Given the description of an element on the screen output the (x, y) to click on. 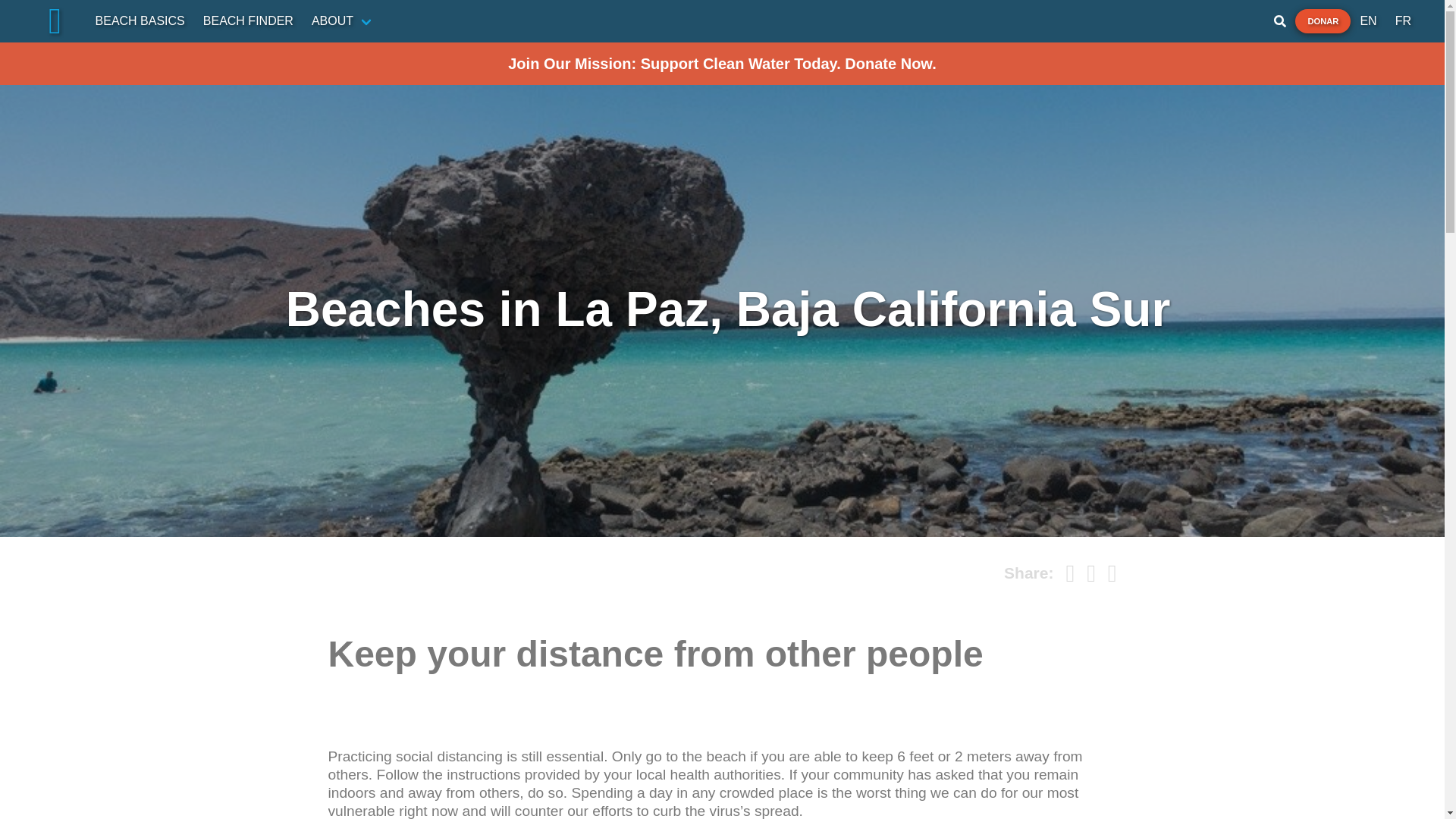
Join Our Mission: Support Clean Water Today. Donate Now. (722, 63)
ABOUT (343, 20)
DONAR (1323, 21)
BEACH BASICS (139, 20)
FR (1403, 20)
BEACH FINDER (247, 20)
EN (1368, 20)
